Given the description of an element on the screen output the (x, y) to click on. 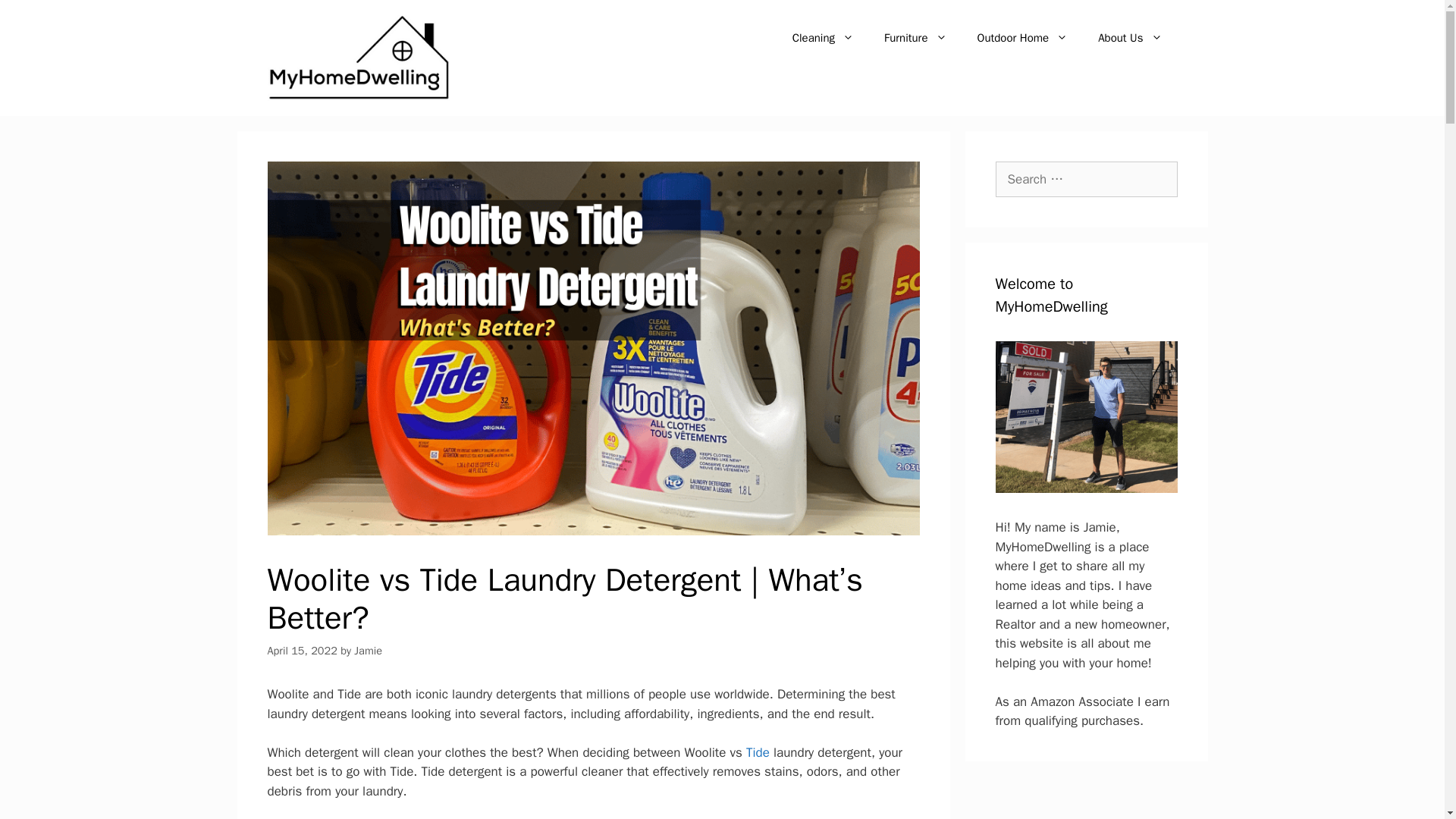
Tide (757, 752)
Tide (757, 752)
Jamie (367, 650)
View all posts by Jamie (367, 650)
Cleaning (823, 37)
Outdoor Home (1021, 37)
About Us (1129, 37)
Furniture (915, 37)
